Given the description of an element on the screen output the (x, y) to click on. 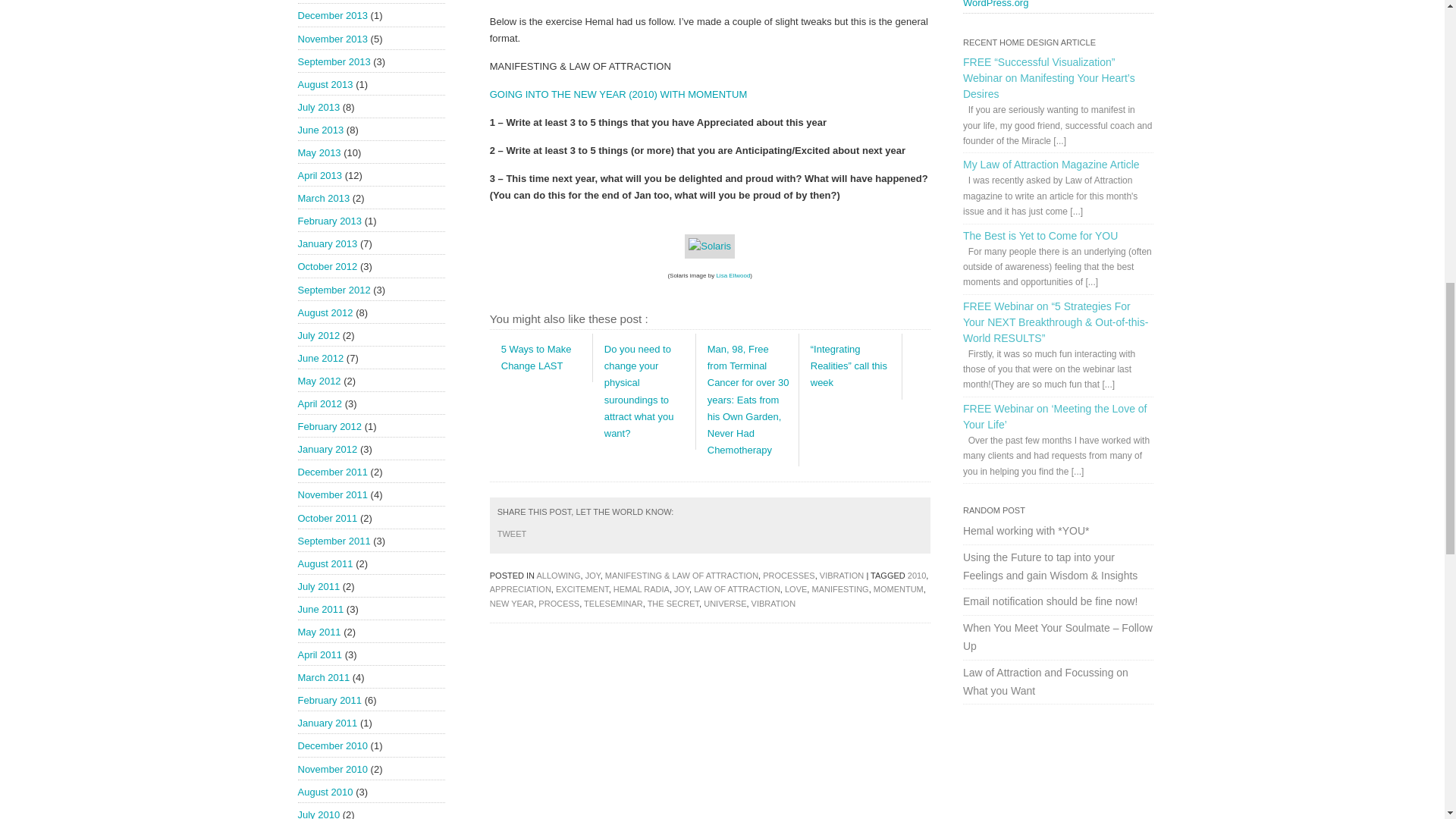
December 2013 (332, 15)
The Best is Yet to Come for YOU (1040, 234)
My Law of Attraction Magazine Article (1051, 164)
November 2013 (332, 39)
5 Ways to Make Change LAST (536, 357)
